Given the description of an element on the screen output the (x, y) to click on. 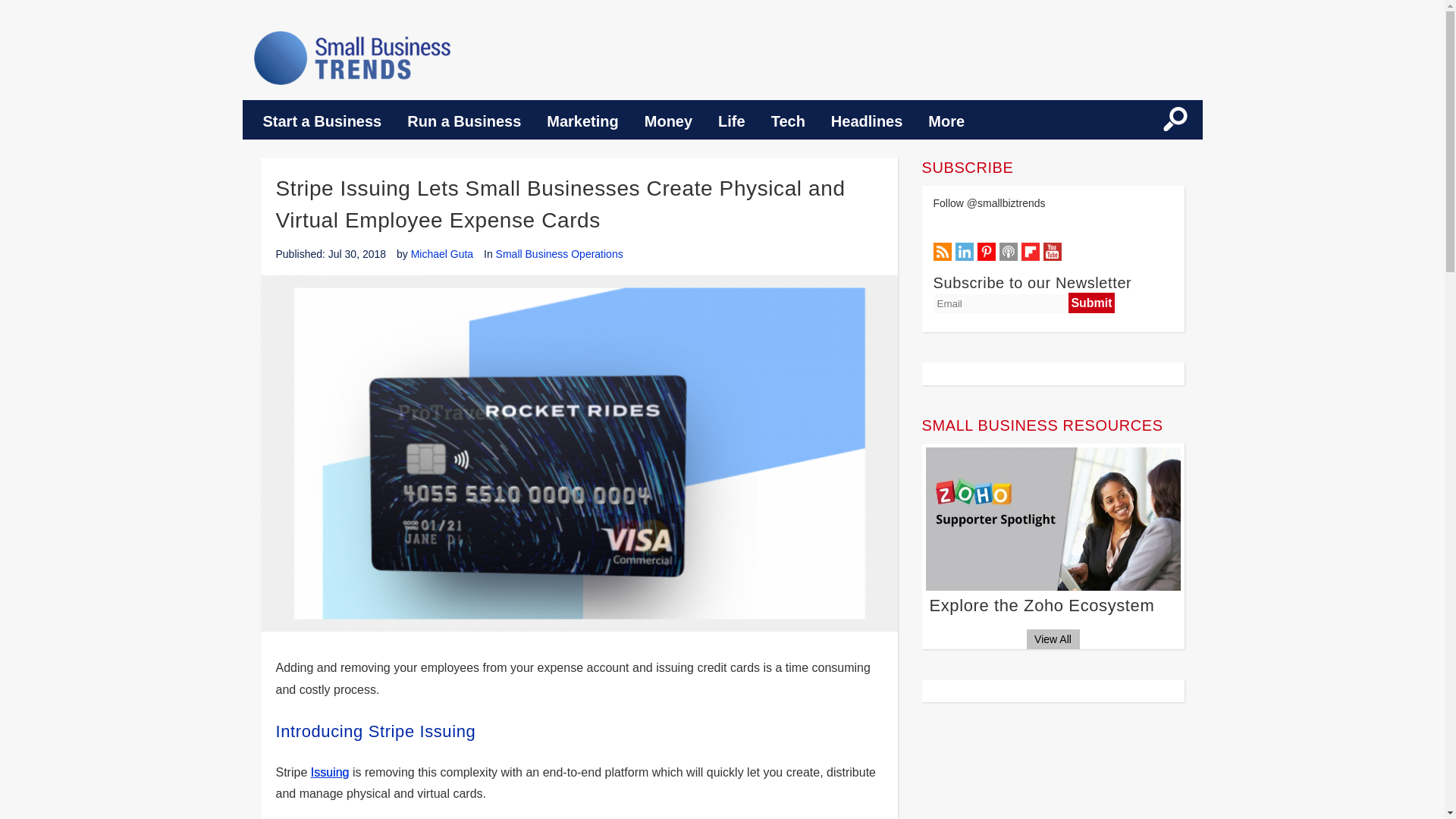
Money (667, 121)
Start a Business (322, 121)
Posts by Michael Guta (441, 254)
Tech (788, 121)
Small Business Trends (351, 58)
View all articles in Small Business Operations (559, 254)
Small Business Trends (351, 58)
Life (731, 121)
Run a Business (464, 121)
Marketing (582, 121)
